Given the description of an element on the screen output the (x, y) to click on. 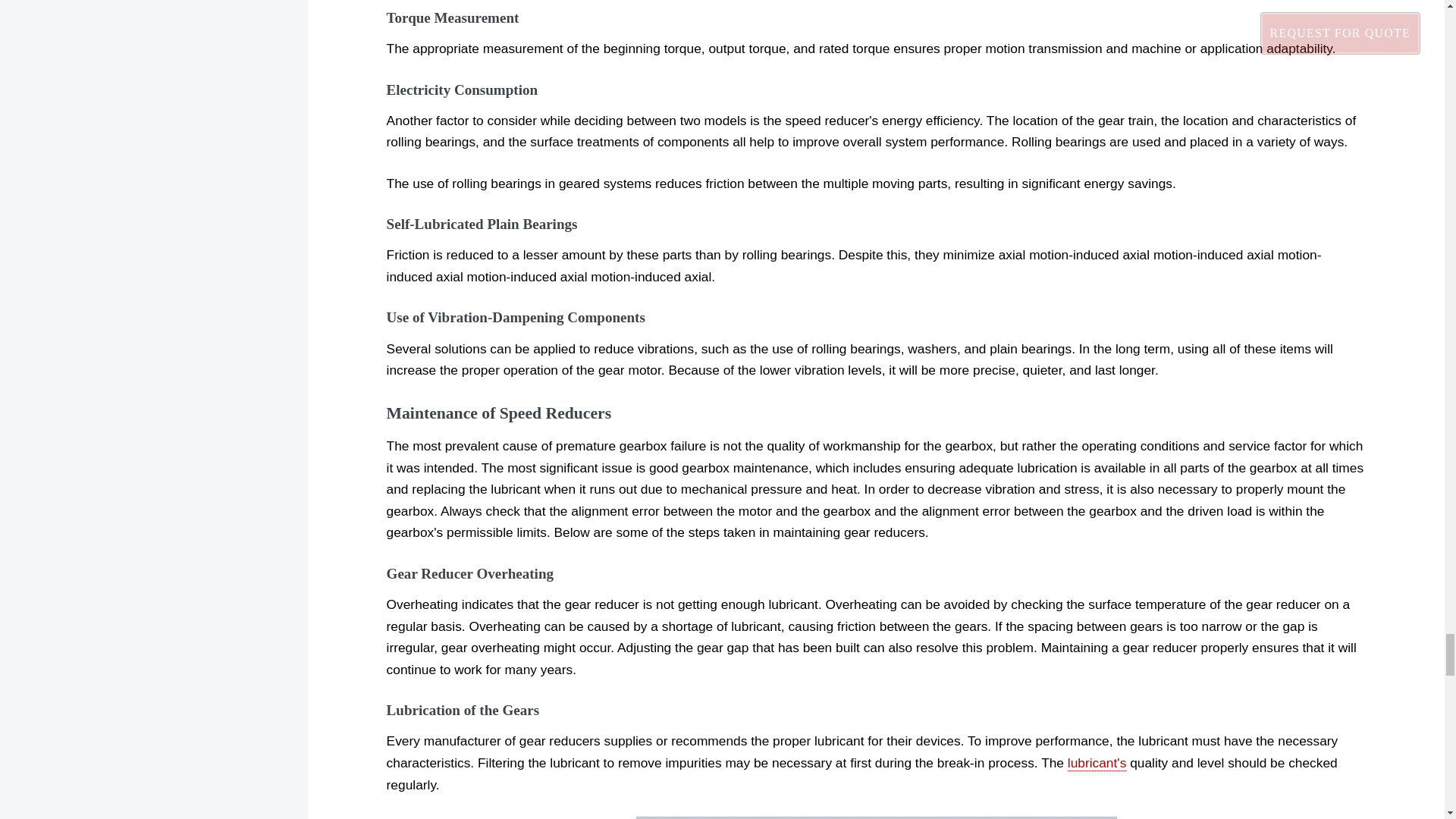
lubricant's (1096, 763)
